Given the description of an element on the screen output the (x, y) to click on. 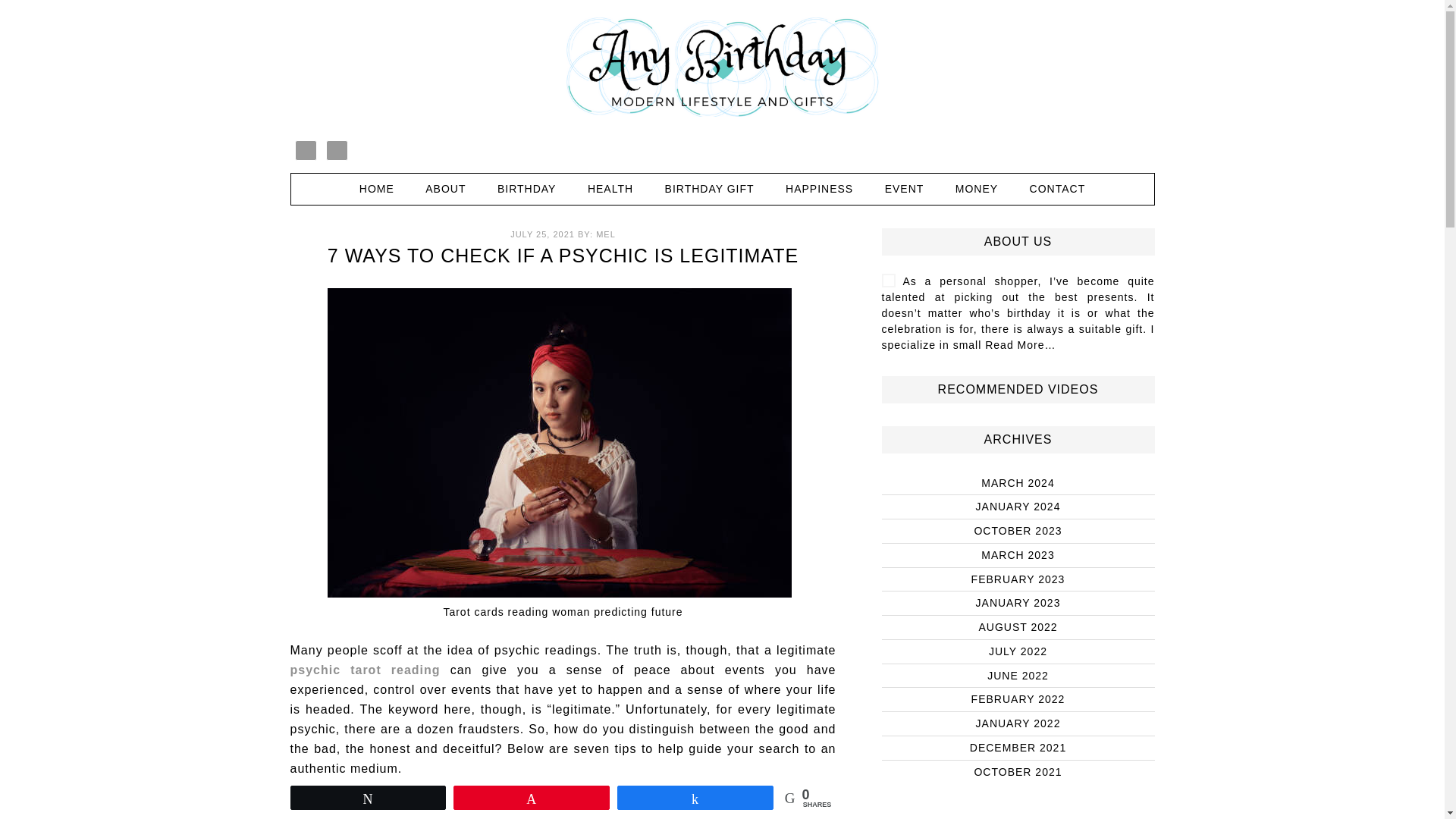
EVENT (903, 187)
AUGUST 2022 (1017, 626)
JANUARY 2024 (1018, 506)
JUNE 2022 (1017, 674)
OCTOBER 2023 (1017, 530)
JANUARY 2023 (1018, 603)
HEALTH (609, 187)
JULY 2022 (1017, 651)
HAPPINESS (818, 187)
MARCH 2023 (1017, 554)
